Given the description of an element on the screen output the (x, y) to click on. 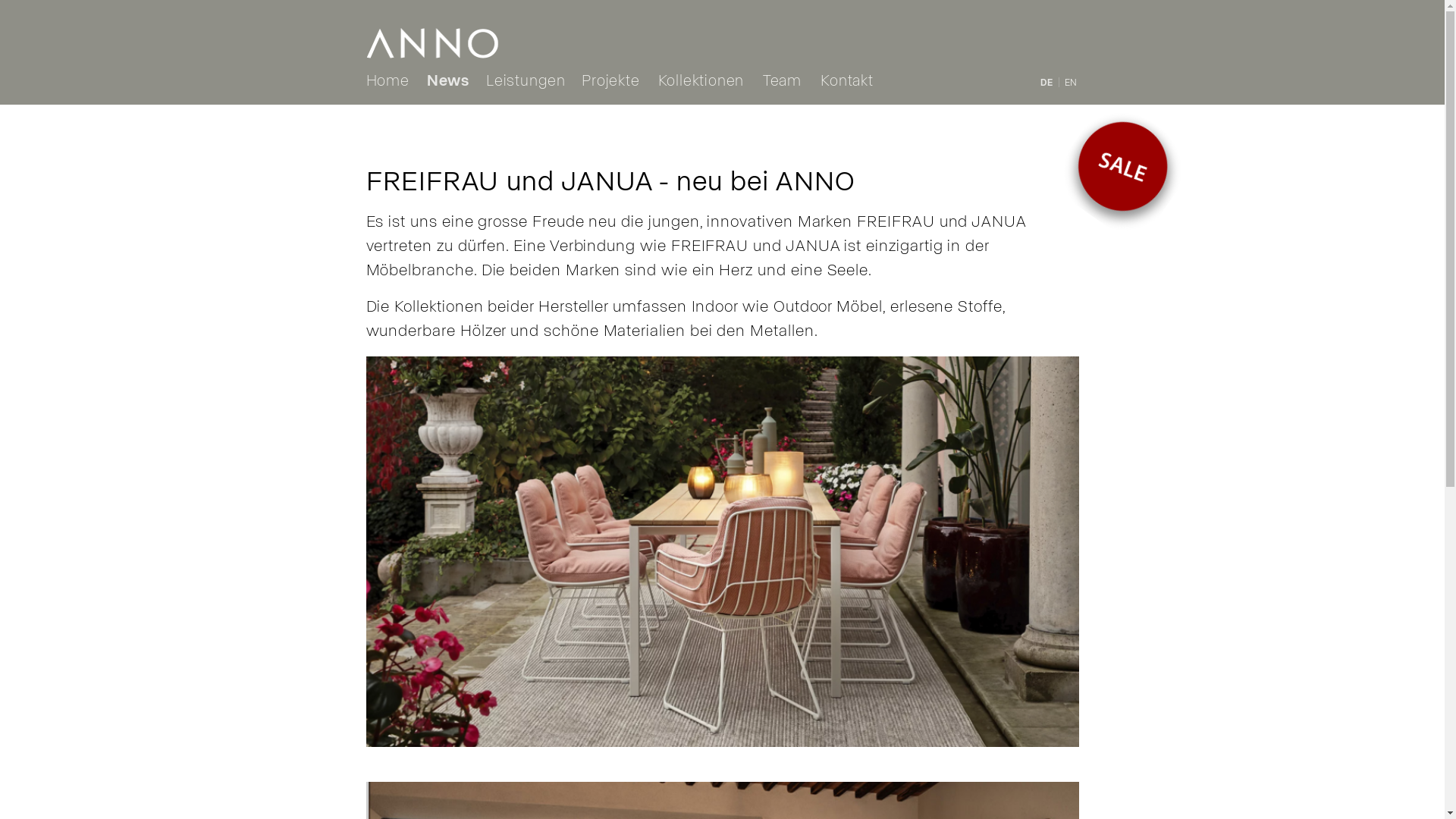
EN Element type: text (1070, 83)
News Element type: text (447, 81)
DE Element type: text (1046, 83)
Leistungen Element type: text (526, 81)
Kontakt Element type: text (847, 81)
Kollektionen Element type: text (701, 81)
Team Element type: text (782, 81)
Home Element type: text (391, 81)
Projekte Element type: text (611, 81)
